Given the description of an element on the screen output the (x, y) to click on. 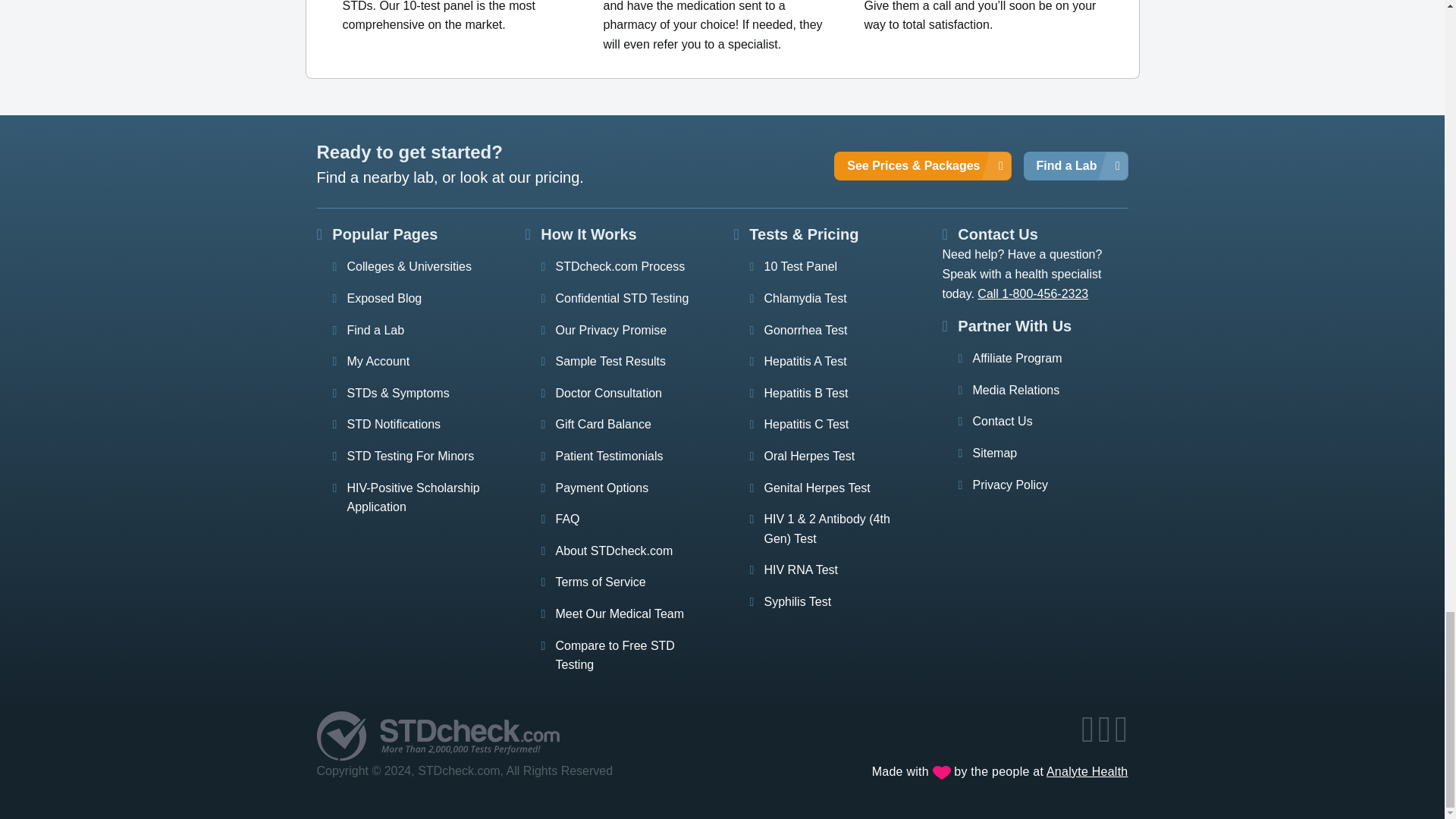
Feed burner (1121, 737)
Twitter (1106, 737)
Facebook (1089, 737)
